Given the description of an element on the screen output the (x, y) to click on. 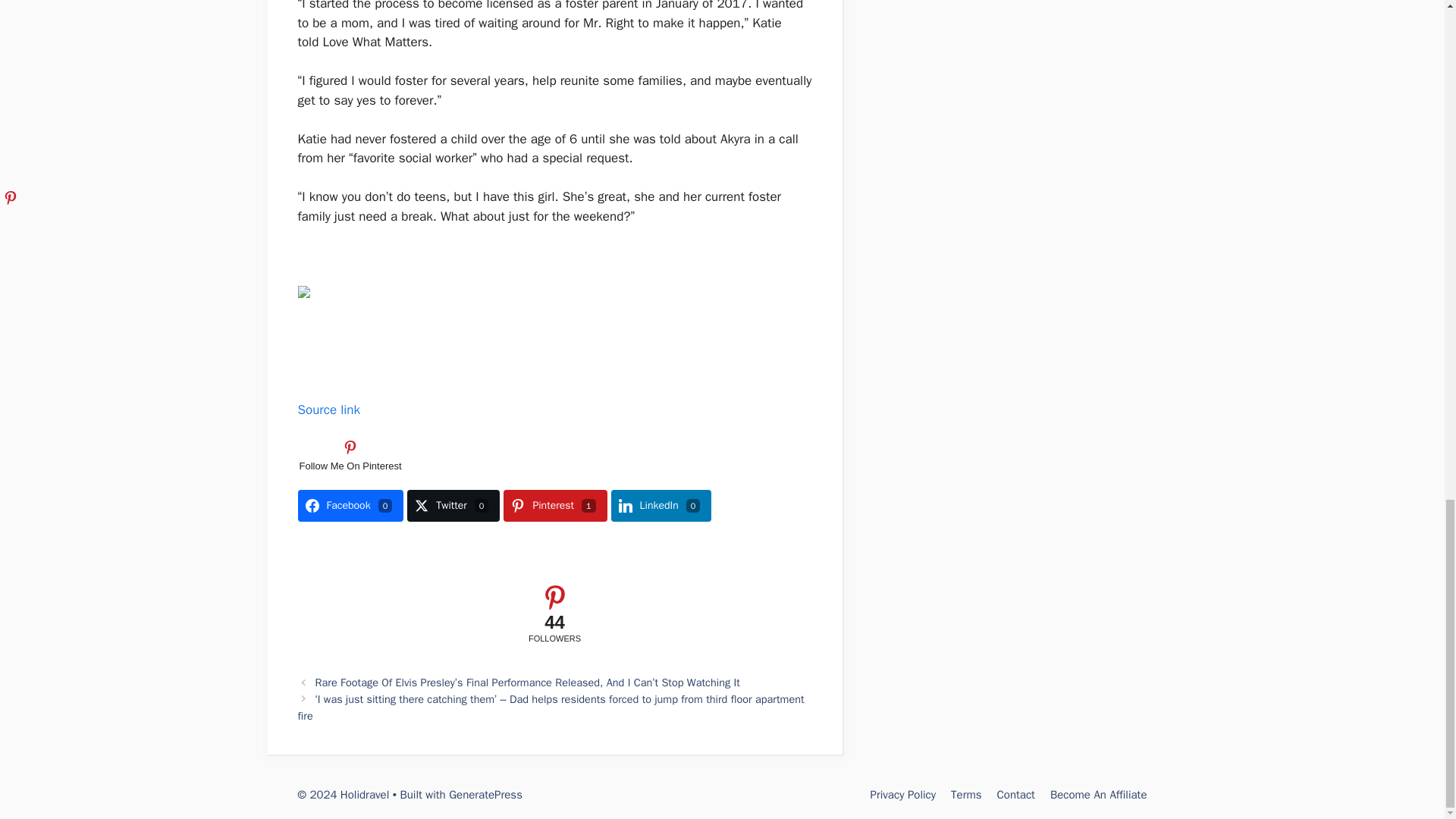
Share on Pinterest (555, 505)
Privacy Policy (902, 794)
Pinterest1 (555, 505)
Share on Facebook (350, 505)
GeneratePress (485, 794)
LinkedIn0 (661, 505)
Facebook0 (350, 505)
Twitter0 (453, 505)
Become An Affiliate (1098, 794)
Source link (328, 409)
Share on Twitter (453, 505)
Share on LinkedIn (661, 505)
Contact (1016, 794)
Terms (965, 794)
